Given the description of an element on the screen output the (x, y) to click on. 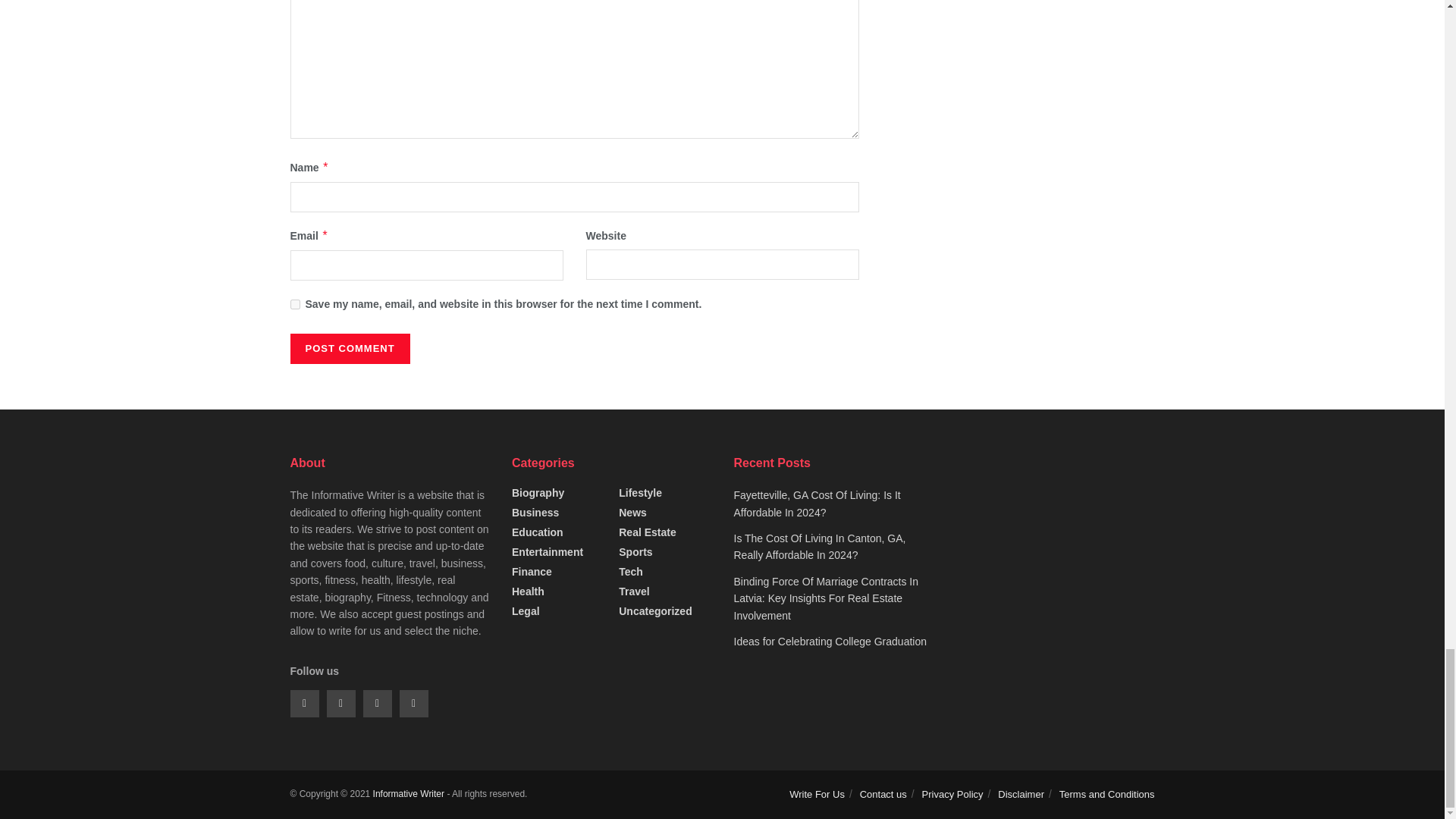
Post Comment (349, 348)
yes (294, 304)
